Given the description of an element on the screen output the (x, y) to click on. 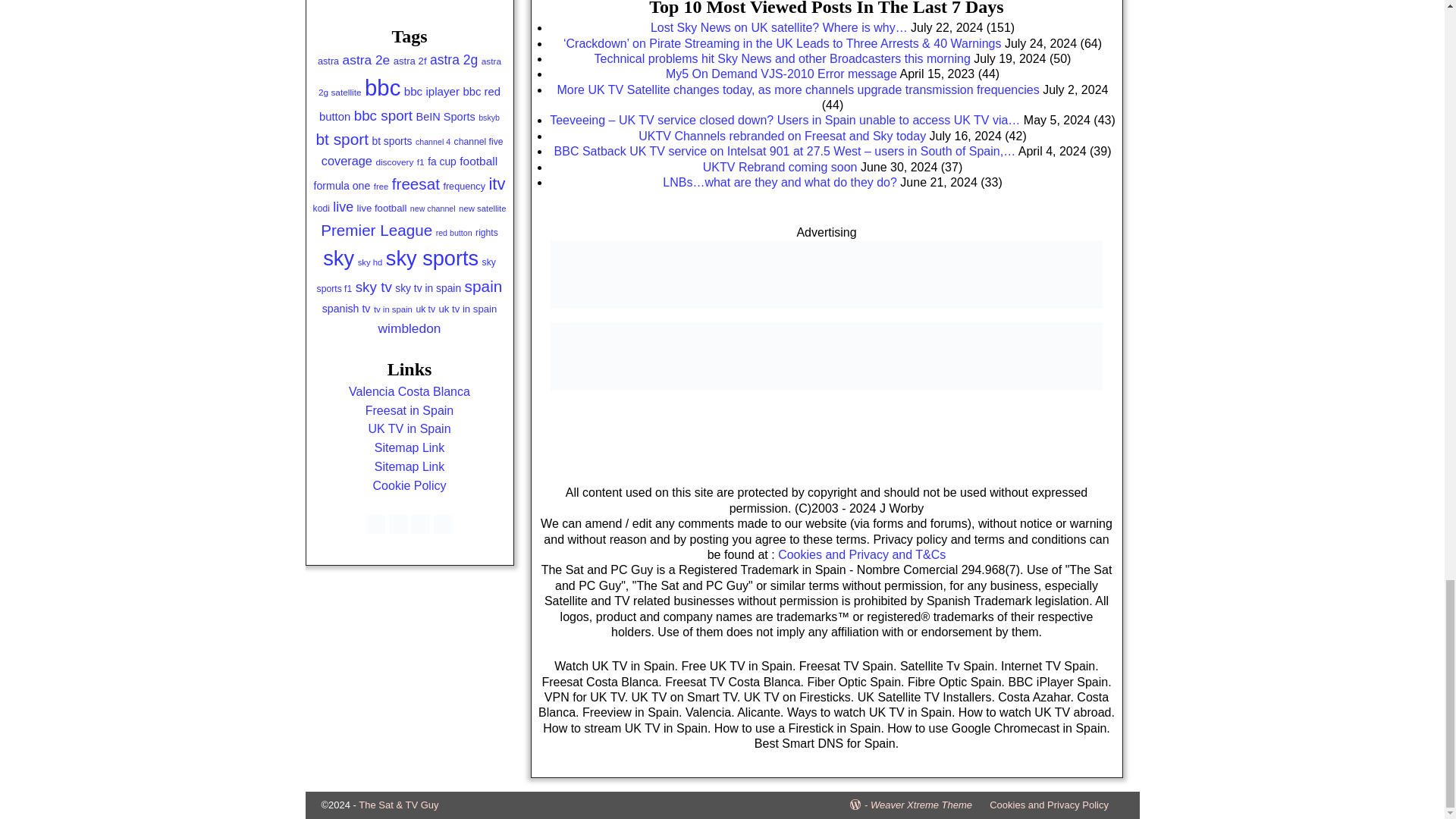
Best VPN for UK TV (826, 386)
Smart DNS Proxy Services (826, 313)
Best VPN for UK TV (826, 356)
Smart DNS Proxy Services (826, 274)
